Given the description of an element on the screen output the (x, y) to click on. 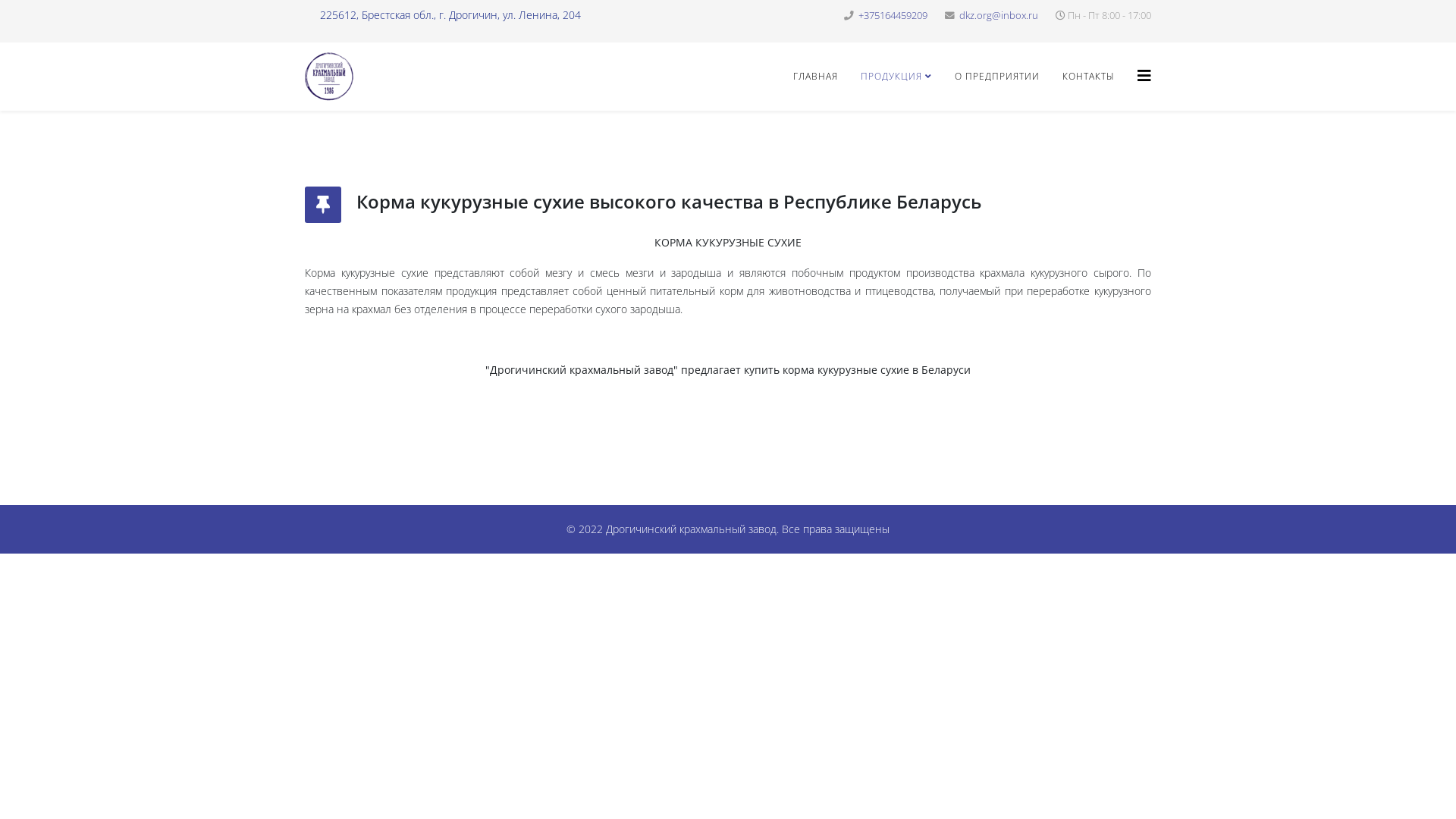
+375164459209 Element type: text (892, 15)
Helix3 Megamenu Options Element type: hover (1144, 75)
dkz.org@inbox.ru Element type: text (998, 15)
